Given the description of an element on the screen output the (x, y) to click on. 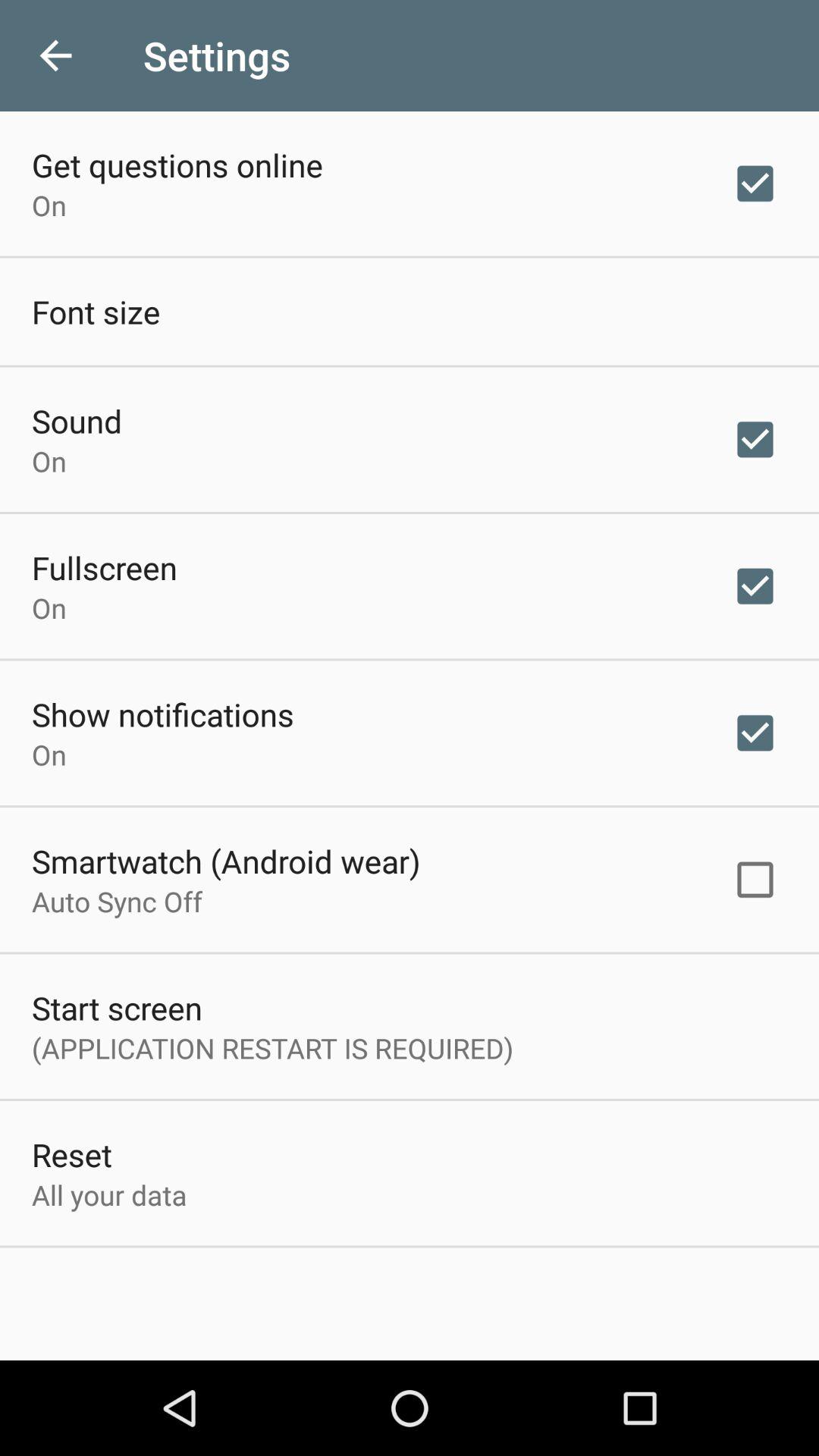
flip until smartwatch (android wear) item (225, 860)
